Given the description of an element on the screen output the (x, y) to click on. 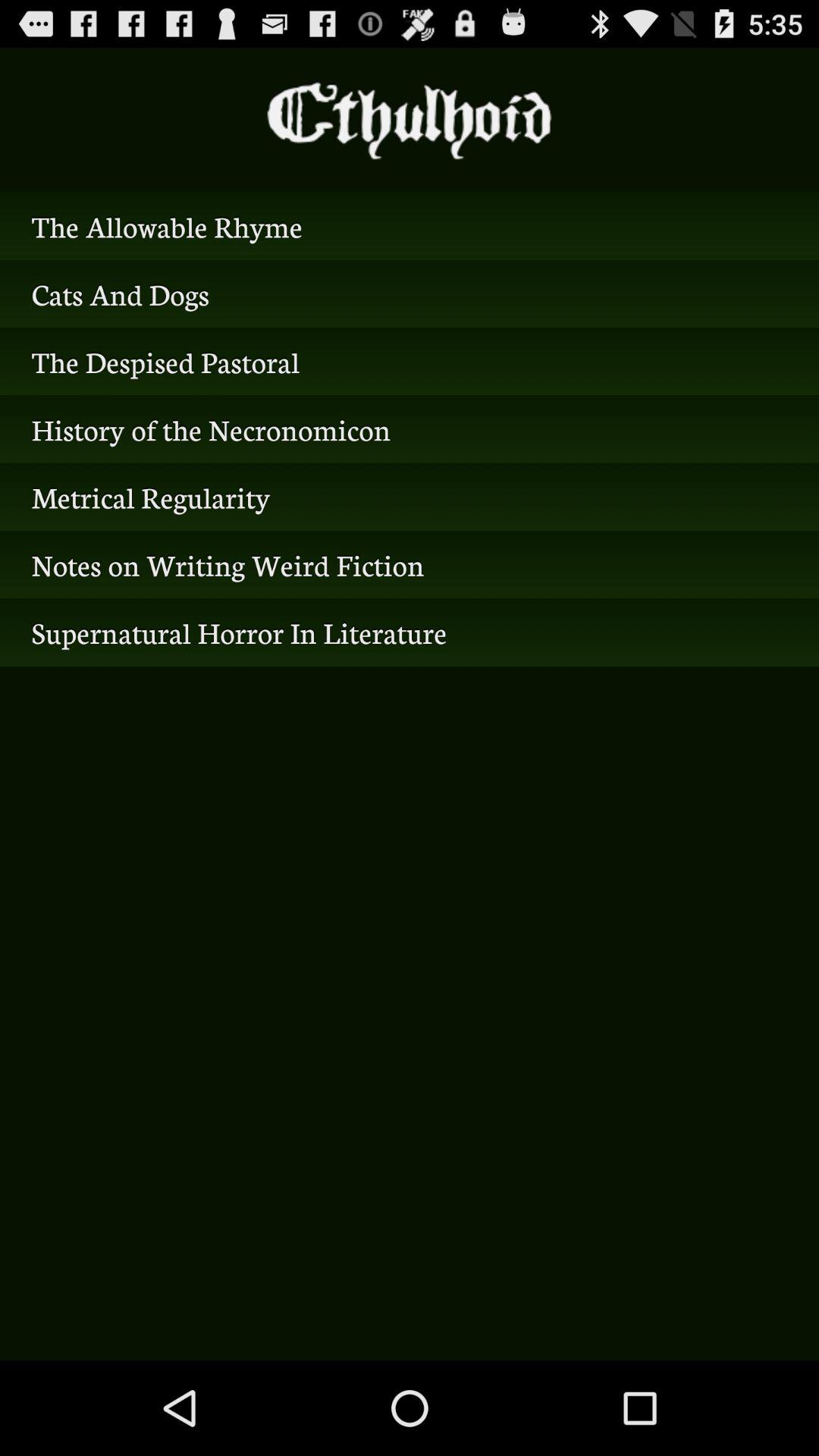
click the item above the the despised pastoral (409, 293)
